Given the description of an element on the screen output the (x, y) to click on. 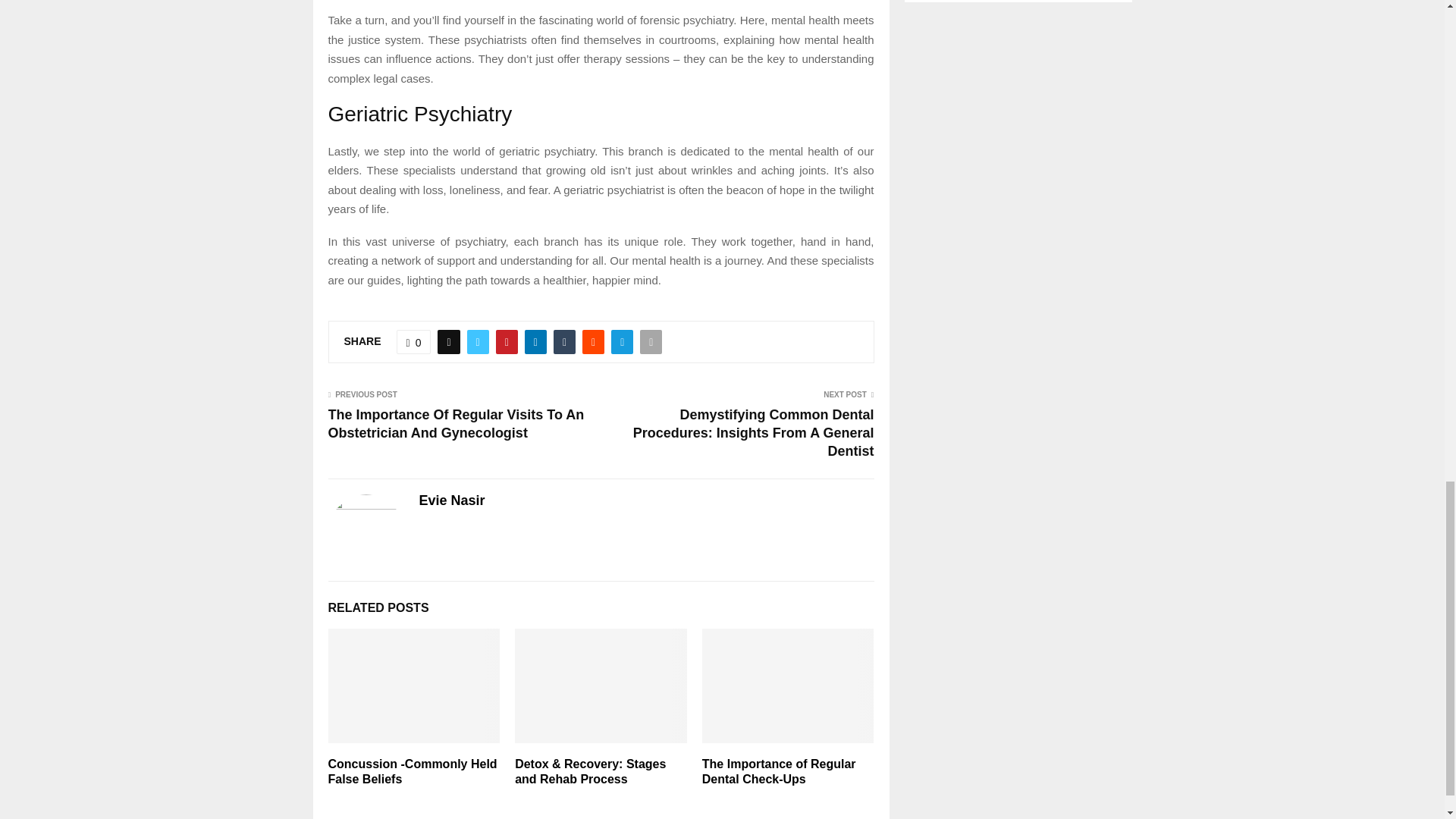
Like (413, 341)
